Given the description of an element on the screen output the (x, y) to click on. 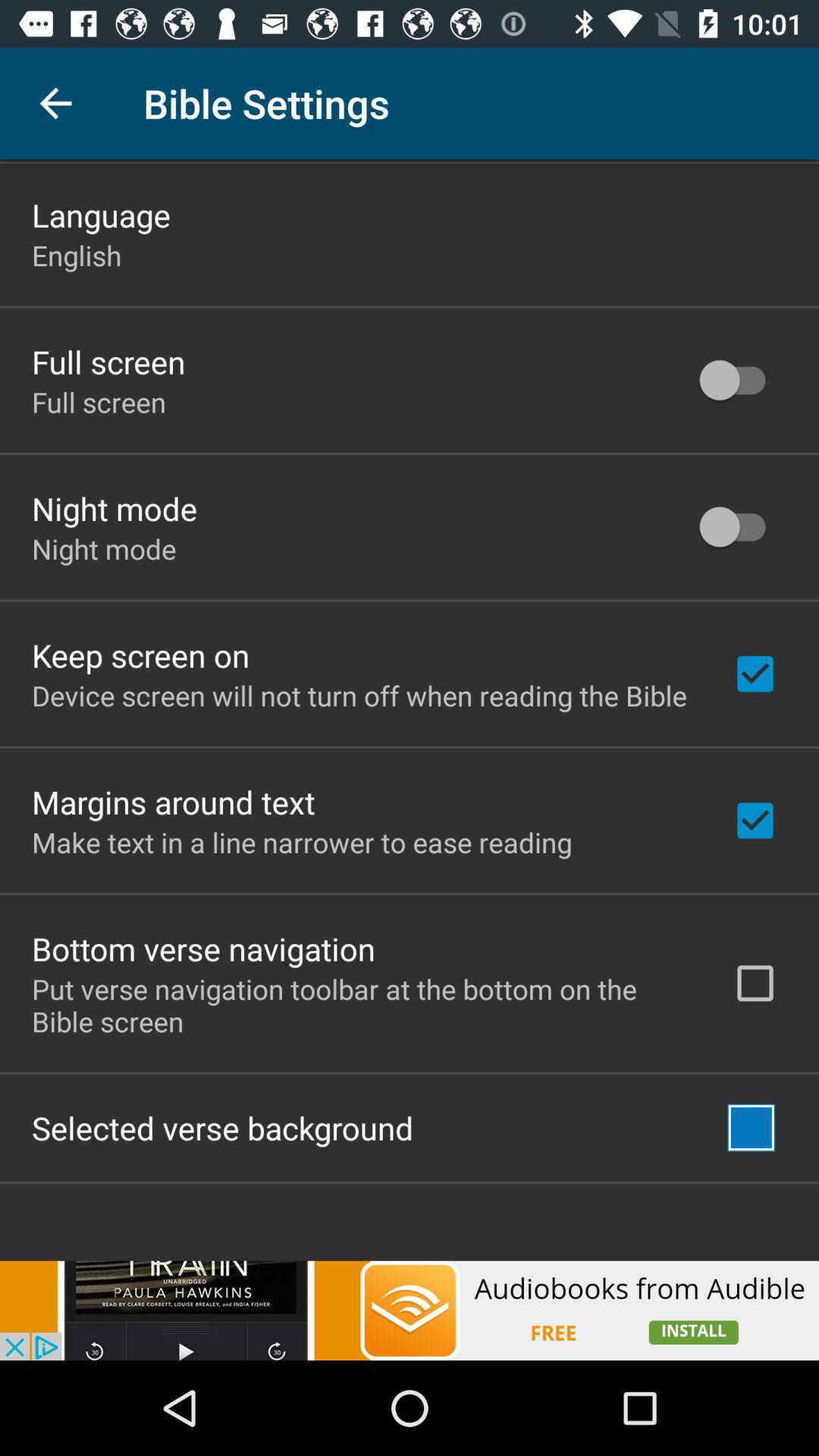
advertise an app (409, 1310)
